Given the description of an element on the screen output the (x, y) to click on. 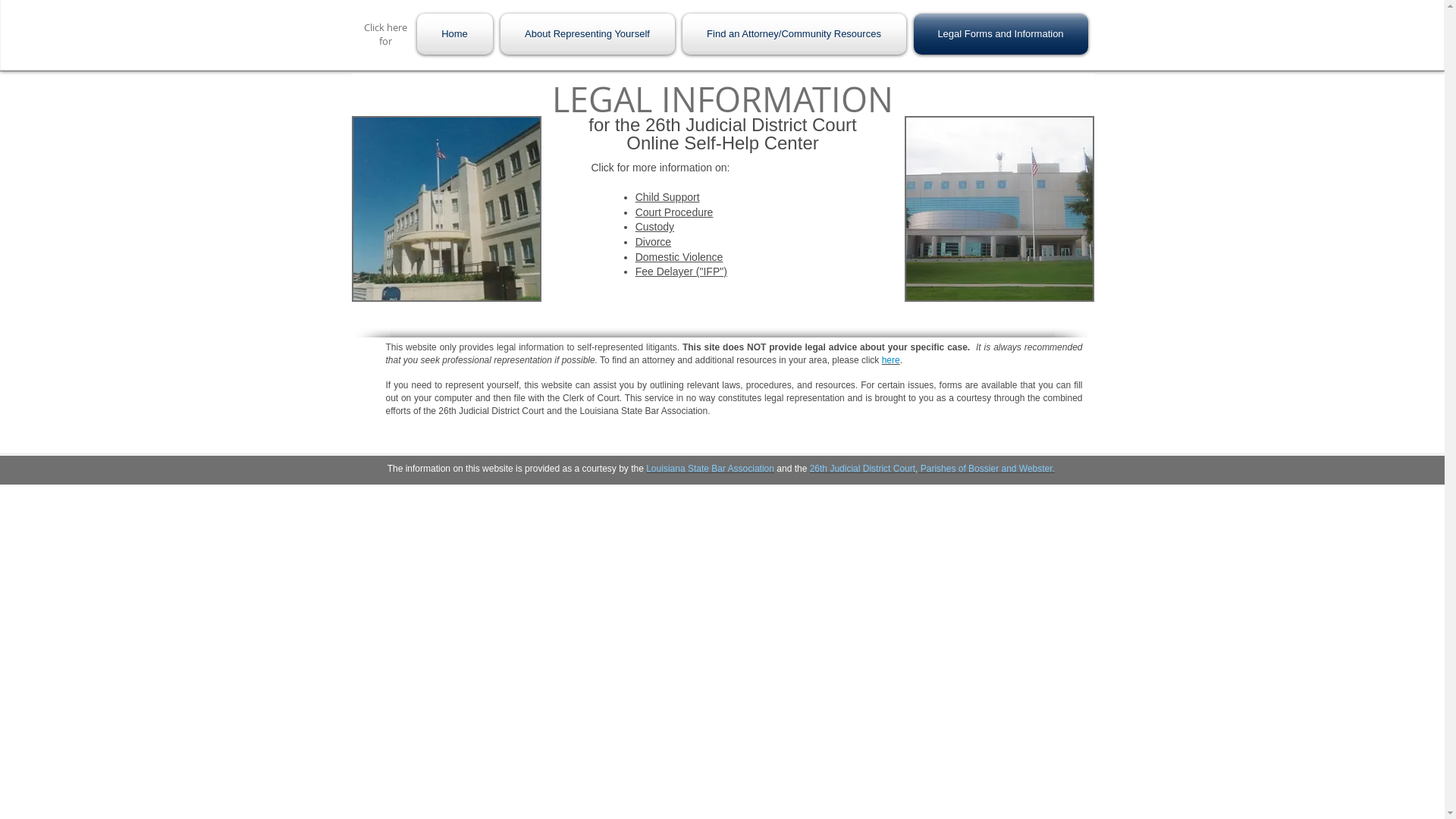
Domestic Violence Element type: text (679, 257)
Louisiana State Bar Association Element type: text (710, 468)
, Parishes of Bossier and Webster. Element type: text (984, 468)
Legal Forms and Information Element type: text (999, 33)
here Element type: text (890, 359)
Find an Attorney/Community Resources Element type: text (793, 33)
Fee Delayer ("IFP") Element type: text (681, 271)
Court Procedure Element type: text (674, 212)
court2.jpg Element type: hover (446, 208)
Home Element type: text (456, 33)
Divorce Element type: text (653, 241)
Custody Element type: text (654, 226)
About Representing Yourself Element type: text (586, 33)
26th Judicial District Court Element type: text (862, 468)
bossier.jpg Element type: hover (998, 208)
Child Support Element type: text (667, 197)
